Given the description of an element on the screen output the (x, y) to click on. 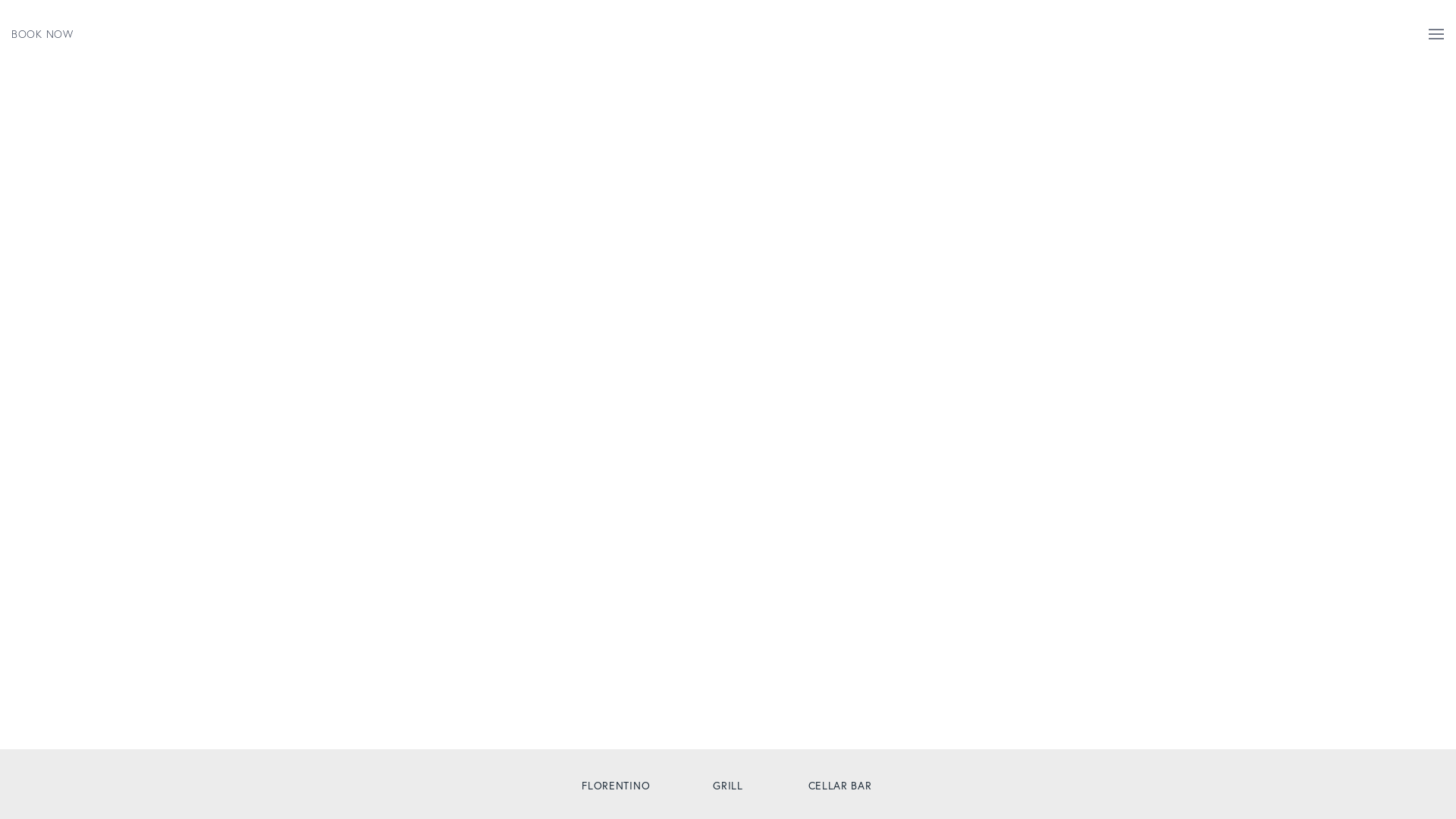
CELLAR BAR Element type: text (840, 785)
GRILL Element type: text (727, 785)
PLAY VIDEO Element type: text (1394, 727)
FLORENTINO Element type: text (615, 785)
BOOK NOW Element type: text (48, 33)
